Given the description of an element on the screen output the (x, y) to click on. 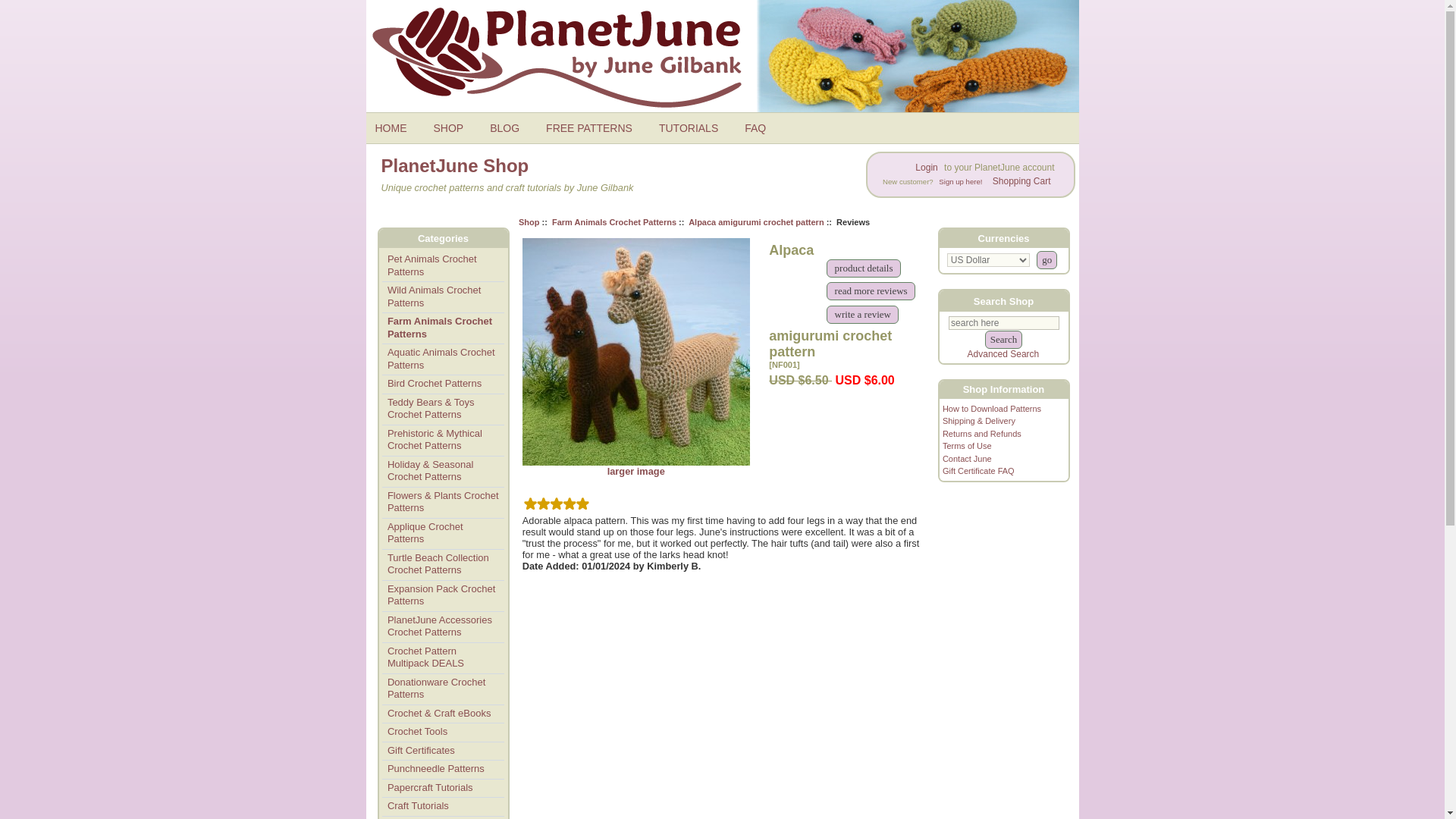
Applique Crochet Patterns (442, 533)
Gift Certificates (442, 751)
larger image (635, 466)
Pet Animals Crochet Patterns (442, 265)
Wild Animals Crochet Patterns (442, 296)
Craft Tutorials (442, 806)
SHOP (454, 127)
Search (1003, 339)
 write a review  (862, 314)
BLOG (509, 127)
Turtle Beach Collection Crochet Patterns (442, 564)
Alpaca amigurumi crochet pattern (756, 221)
Bird Crochet Patterns (442, 384)
go (1046, 259)
PlanetJune Accessories Crochet Patterns (442, 626)
